Given the description of an element on the screen output the (x, y) to click on. 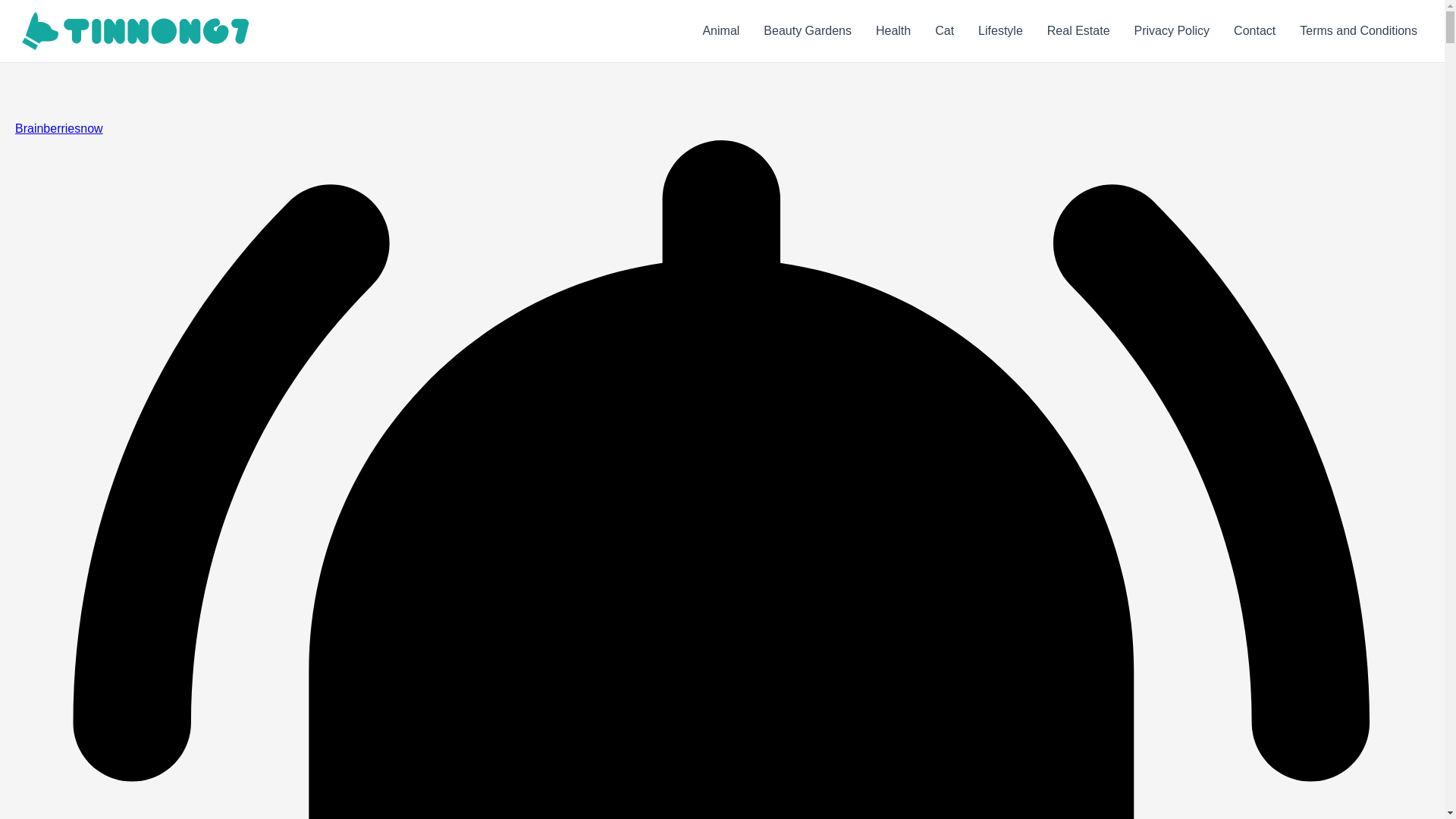
Real Estate (1078, 30)
Animal (720, 30)
Privacy Policy (1172, 30)
Terms and Conditions (1358, 30)
Beauty Gardens (807, 30)
Lifestyle (1000, 30)
Contact (1254, 30)
Health (893, 30)
